Given the description of an element on the screen output the (x, y) to click on. 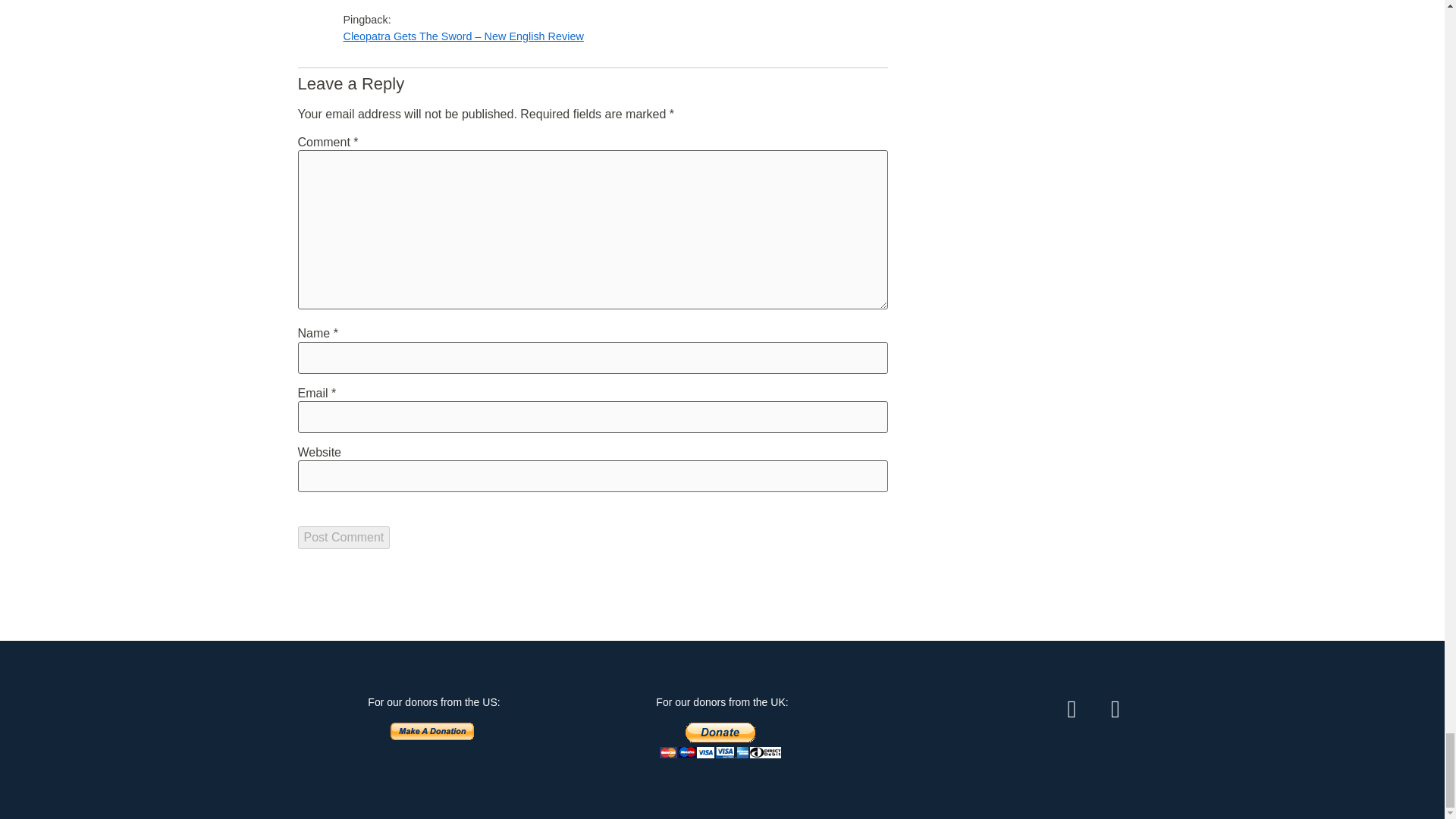
Post Comment (343, 537)
